Given the description of an element on the screen output the (x, y) to click on. 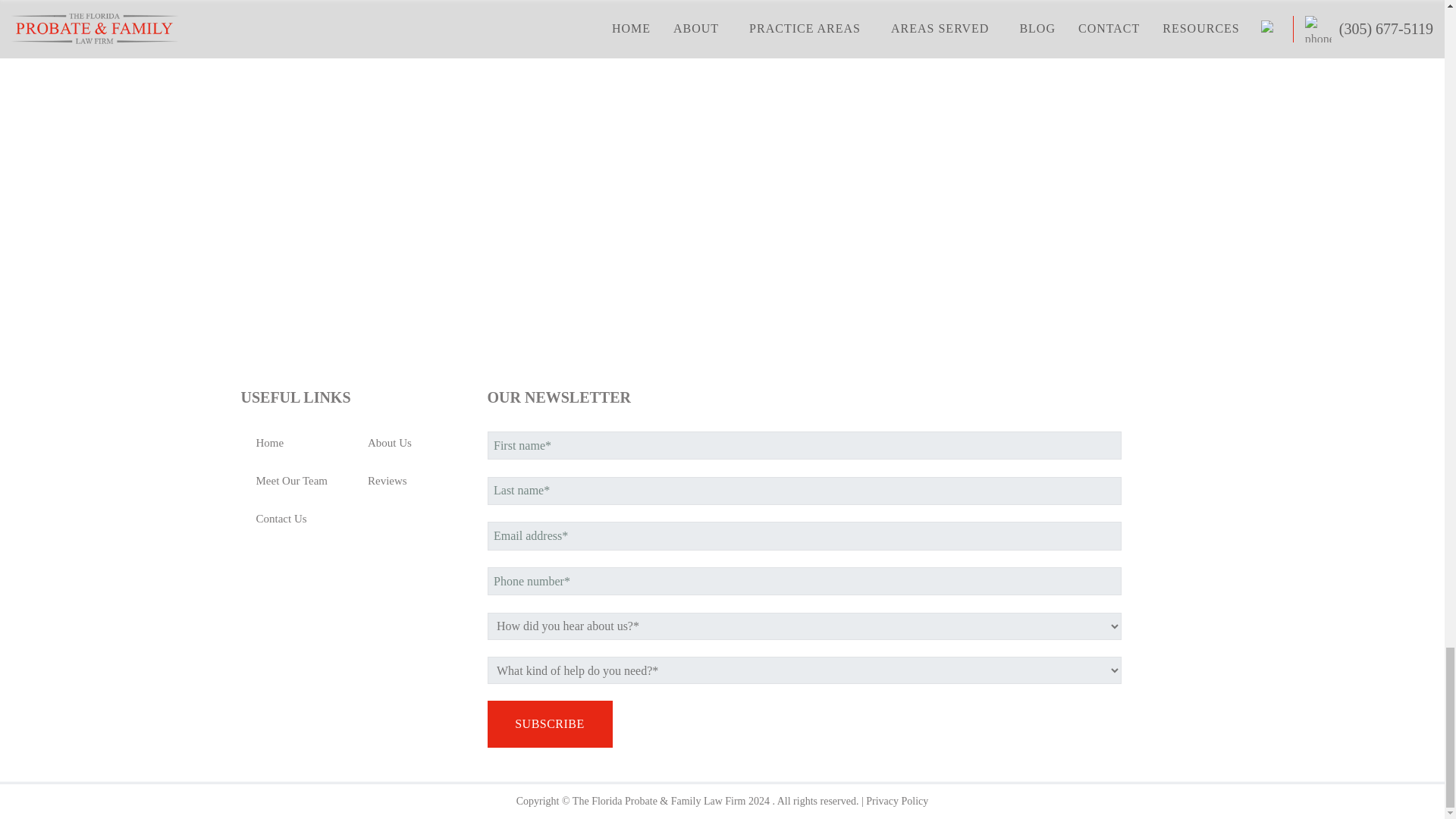
Subscribe (548, 724)
